Given the description of an element on the screen output the (x, y) to click on. 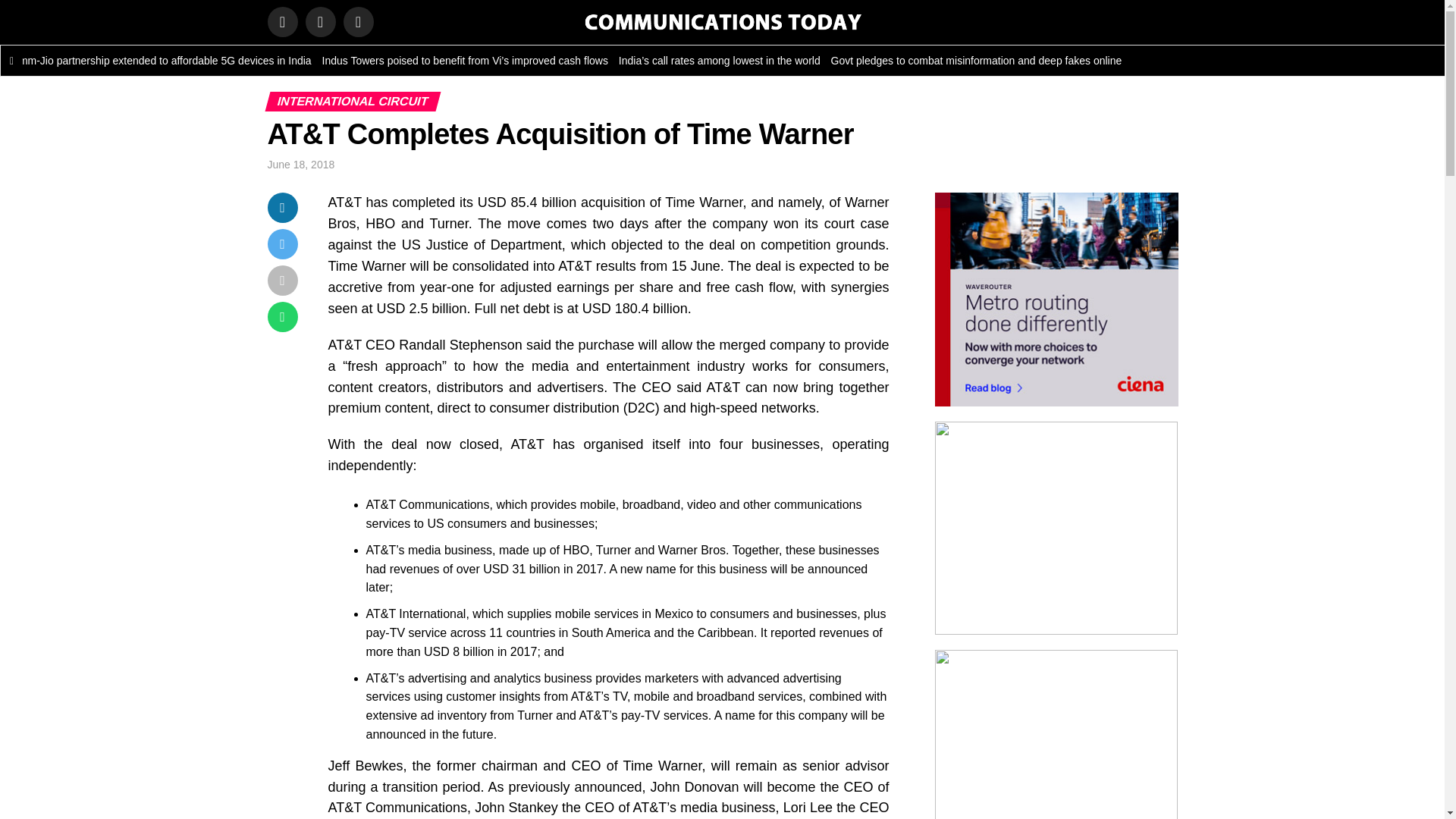
Govt pledges to combat misinformation and deep fakes online (989, 60)
